Given the description of an element on the screen output the (x, y) to click on. 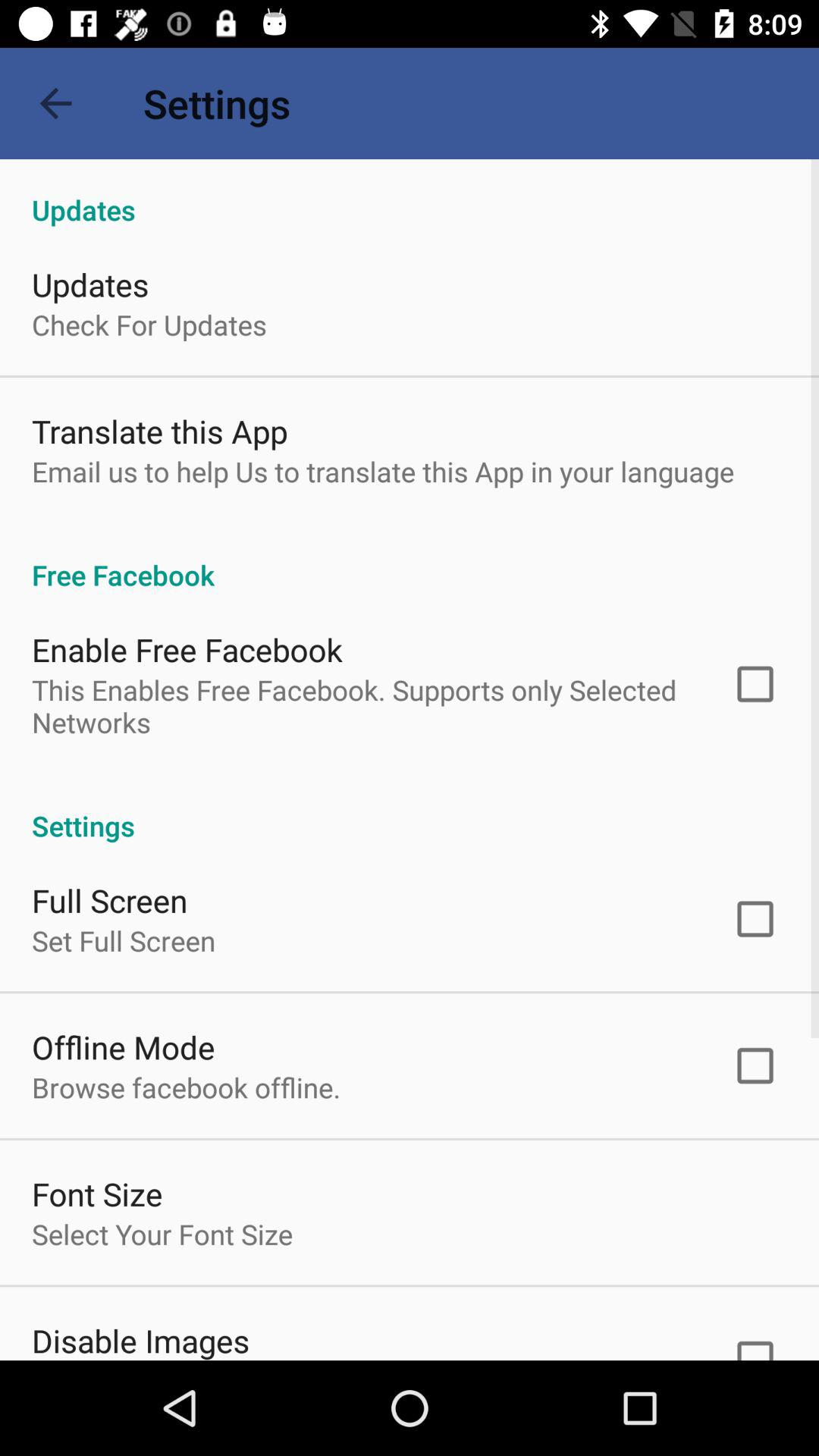
turn on the item below the updates icon (148, 324)
